Given the description of an element on the screen output the (x, y) to click on. 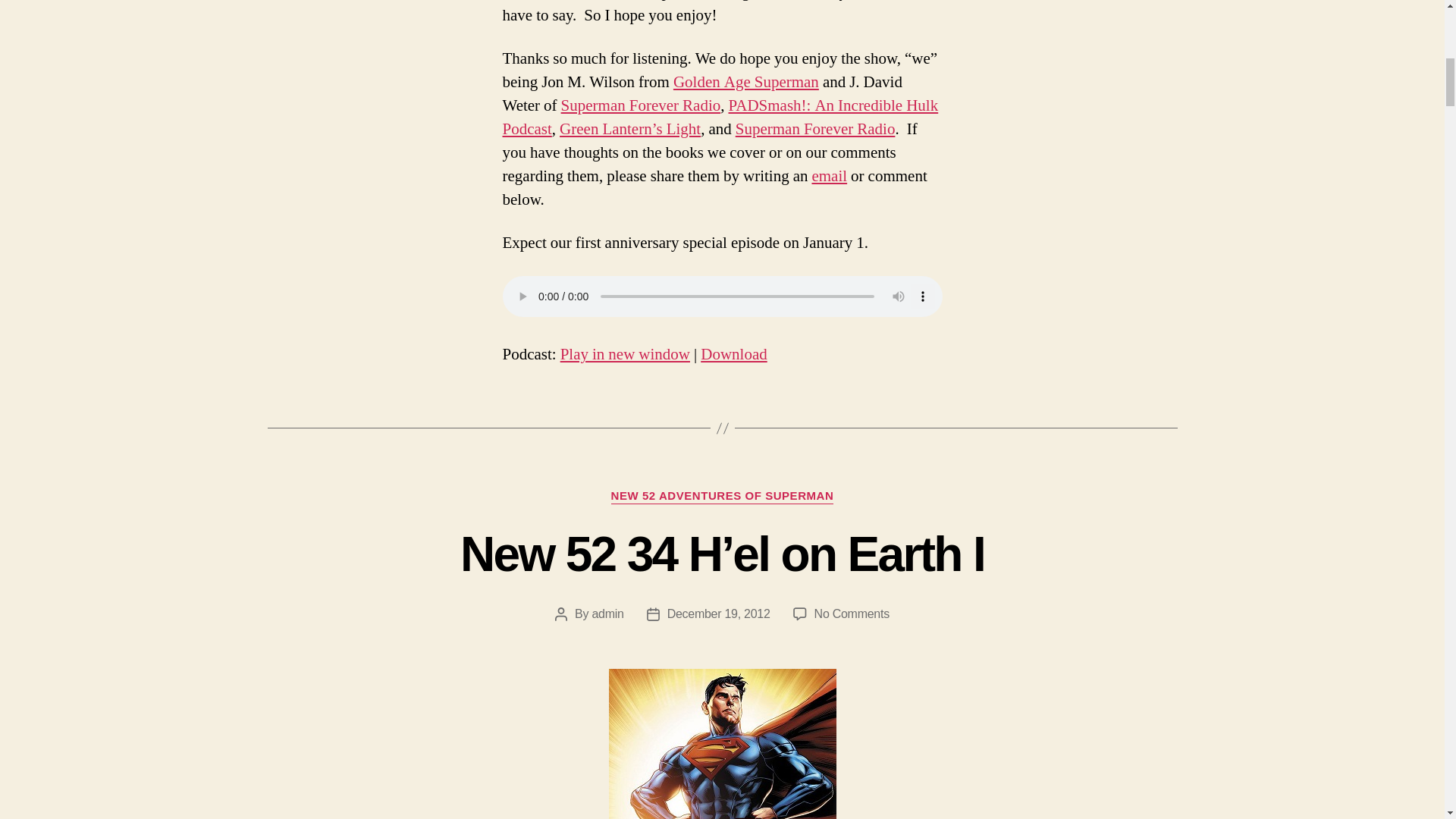
Download (733, 353)
Superman Forever Radio (815, 128)
email (828, 176)
Golden Age Superman (745, 82)
Download (733, 353)
admin (607, 613)
NEW 52 ADVENTURES OF SUPERMAN (722, 496)
Play in new window (625, 353)
Play in new window (625, 353)
December 19, 2012 (718, 613)
